Given the description of an element on the screen output the (x, y) to click on. 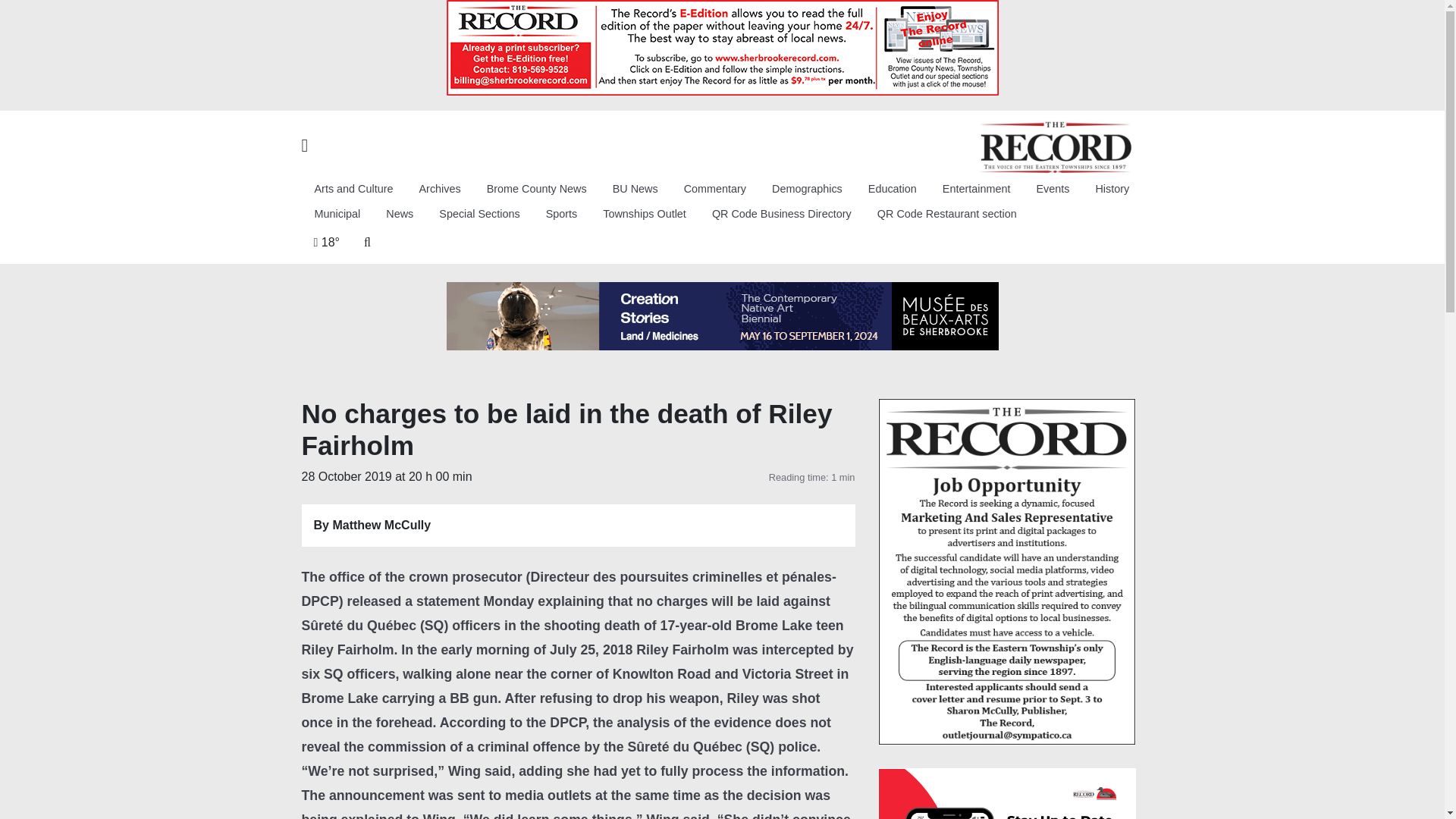
Arts and Culture (353, 188)
Sports (561, 214)
Entertainment (976, 188)
Entertainment (976, 188)
Municipal (337, 214)
Special Sections (479, 214)
History (1111, 188)
BU News (635, 188)
Commentary (714, 188)
Brome County News (536, 188)
